Given the description of an element on the screen output the (x, y) to click on. 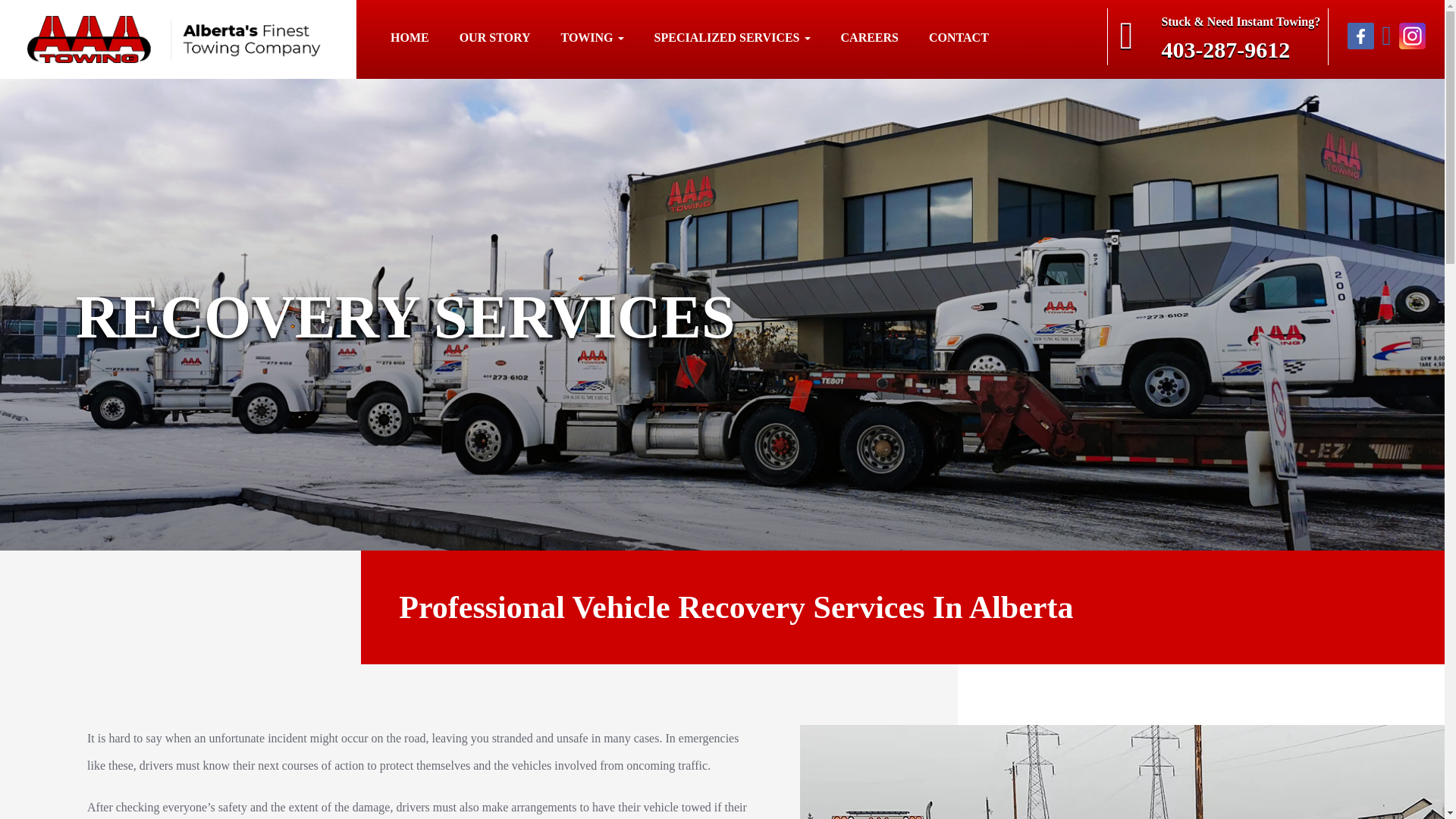
SPECIALIZED SERVICES (731, 37)
CONTACT (958, 37)
TOWING (592, 37)
HOME (409, 37)
CAREERS (869, 37)
403-287-9612 (1240, 50)
OUR STORY (495, 37)
